Given the description of an element on the screen output the (x, y) to click on. 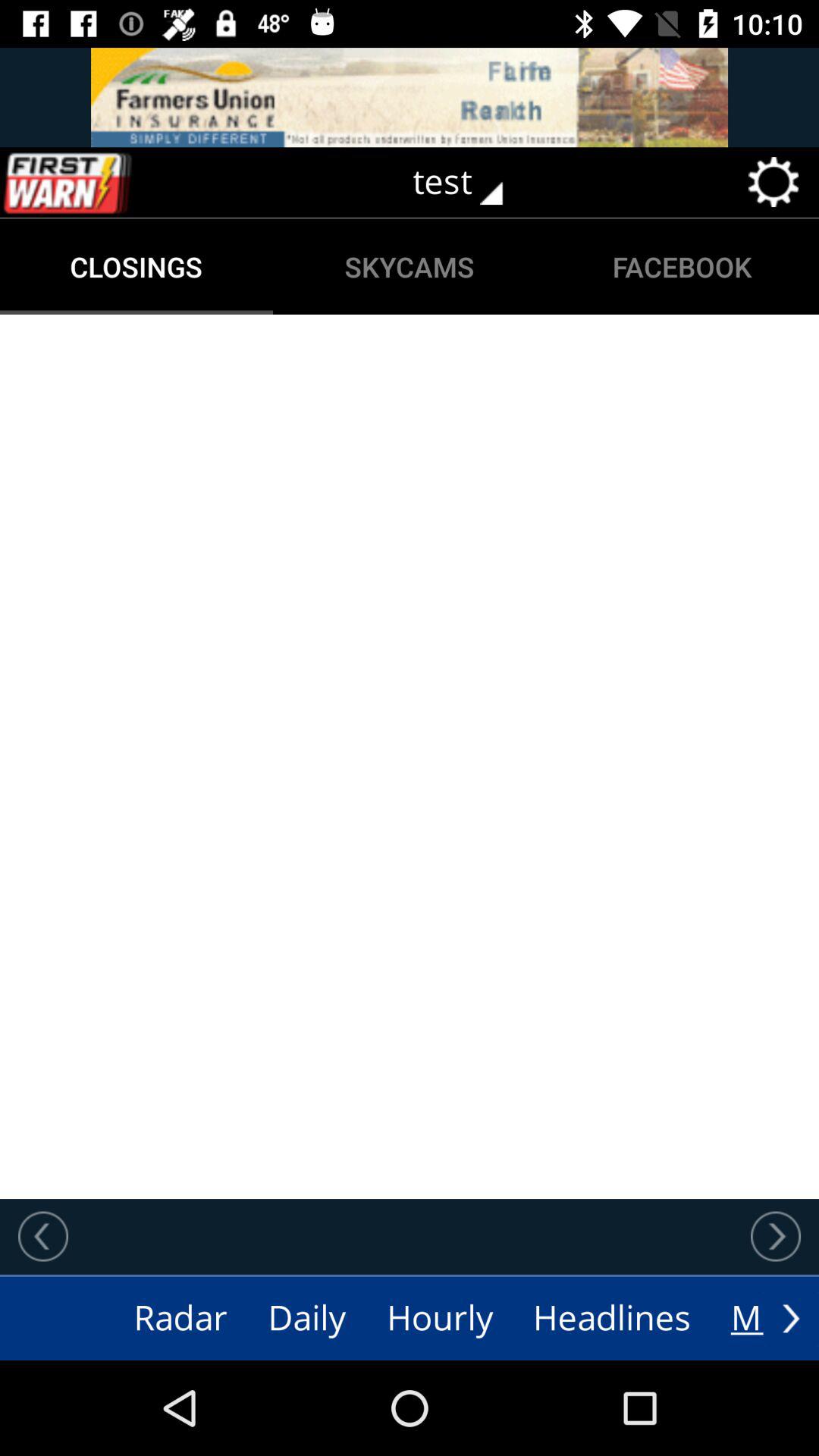
go back to previous screen (43, 1236)
